Given the description of an element on the screen output the (x, y) to click on. 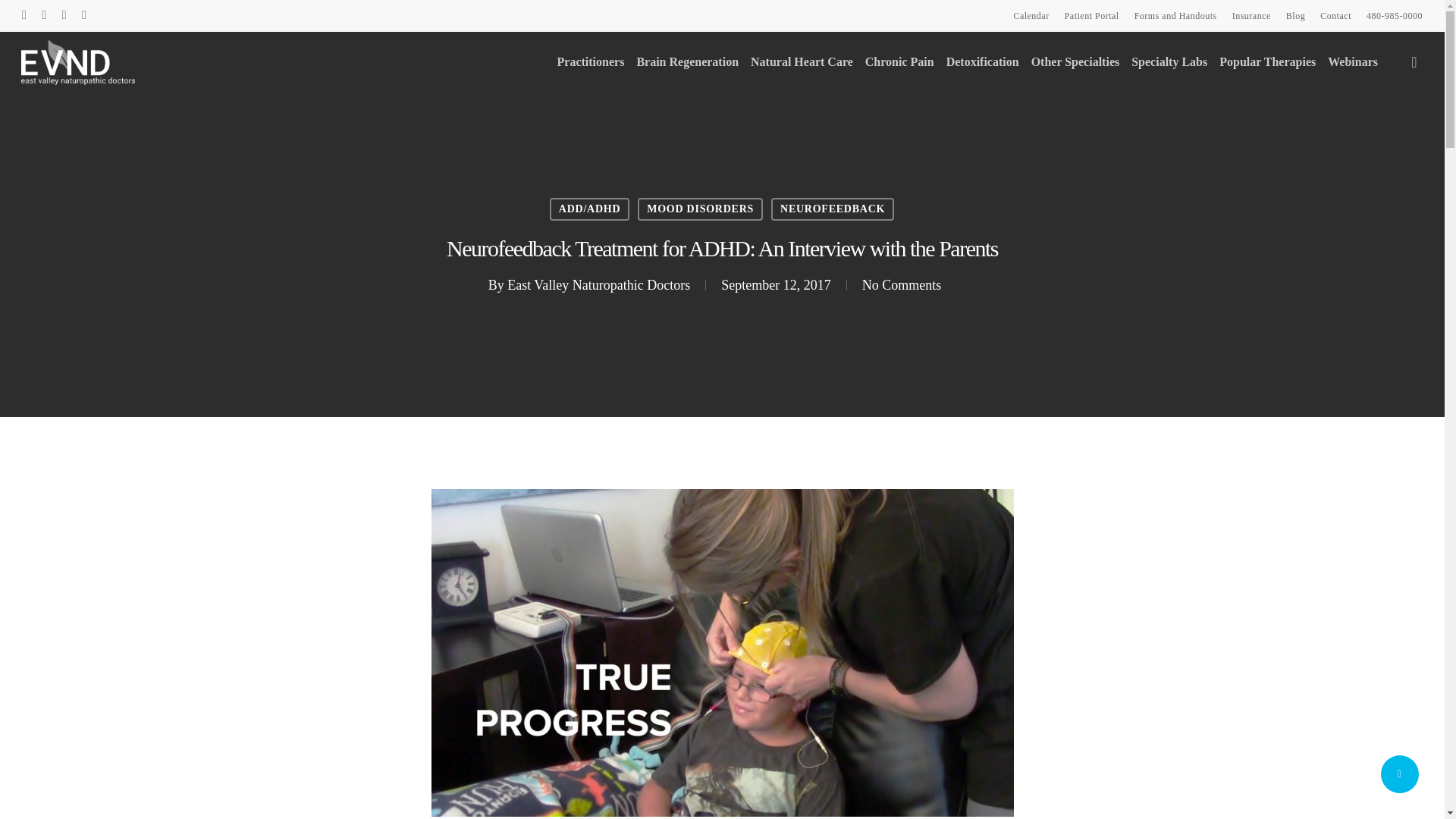
Other Specialties (1075, 61)
Calendar (1030, 15)
Contact (1335, 15)
Insurance (1251, 15)
Patient Portal (1091, 15)
Forms and Handouts (1175, 15)
Specialty Labs (1168, 61)
Brain Regeneration (687, 61)
Posts by East Valley Naturopathic Doctors (598, 284)
Practitioners (590, 61)
Detoxification (982, 61)
Blog (1294, 15)
Chronic Pain (899, 61)
480-985-0000 (1394, 15)
Natural Heart Care (801, 61)
